Given the description of an element on the screen output the (x, y) to click on. 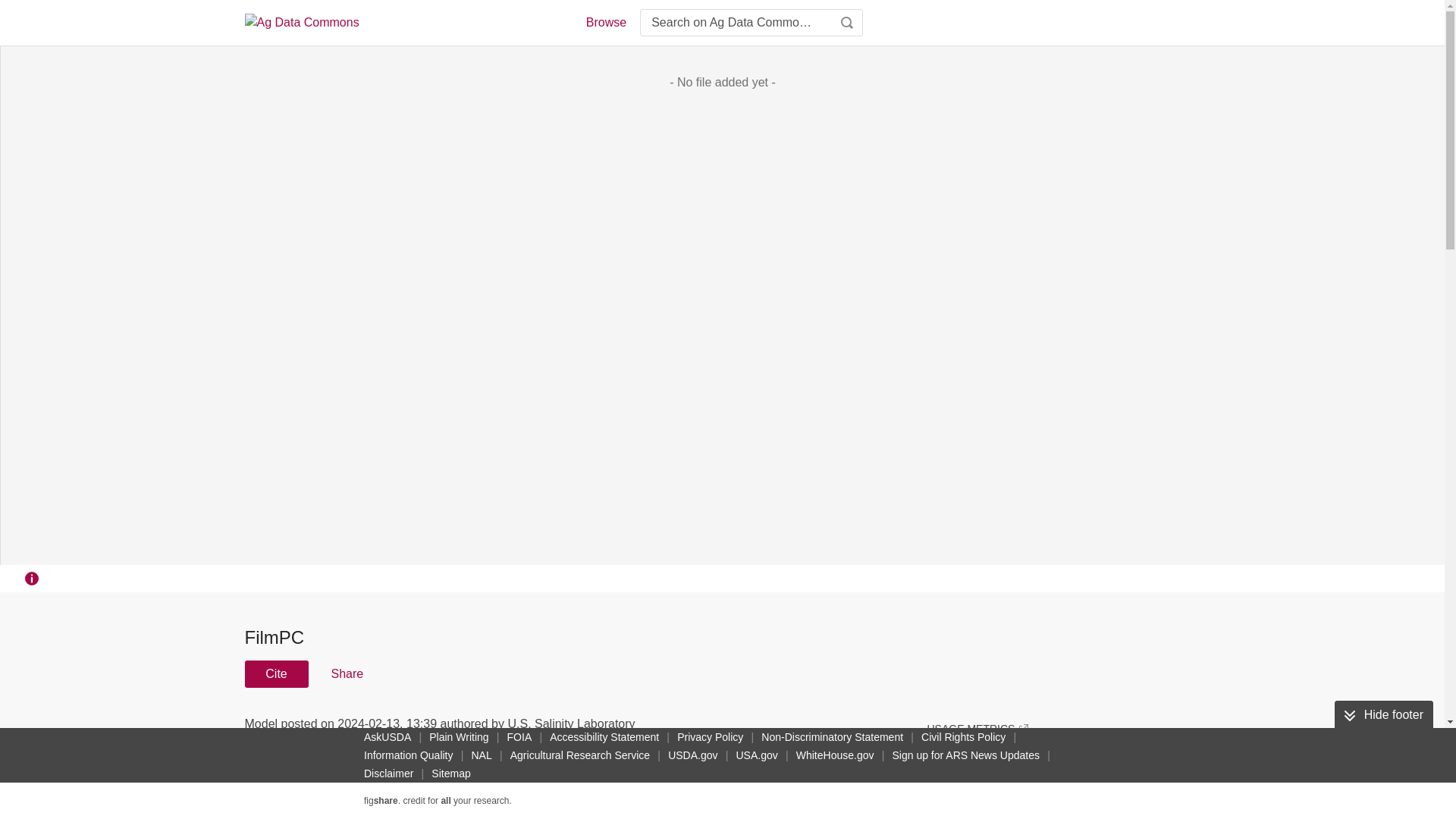
Share (346, 673)
Cite (275, 673)
Browse (605, 22)
Hide footer (1383, 715)
Non-Discriminatory Statement (832, 737)
AskUSDA (386, 737)
Accessibility Statement (603, 737)
USAGE METRICS (976, 728)
Plain Writing (459, 737)
FOIA (519, 737)
Privacy Policy (710, 737)
Civil Rights Policy (963, 737)
